Given the description of an element on the screen output the (x, y) to click on. 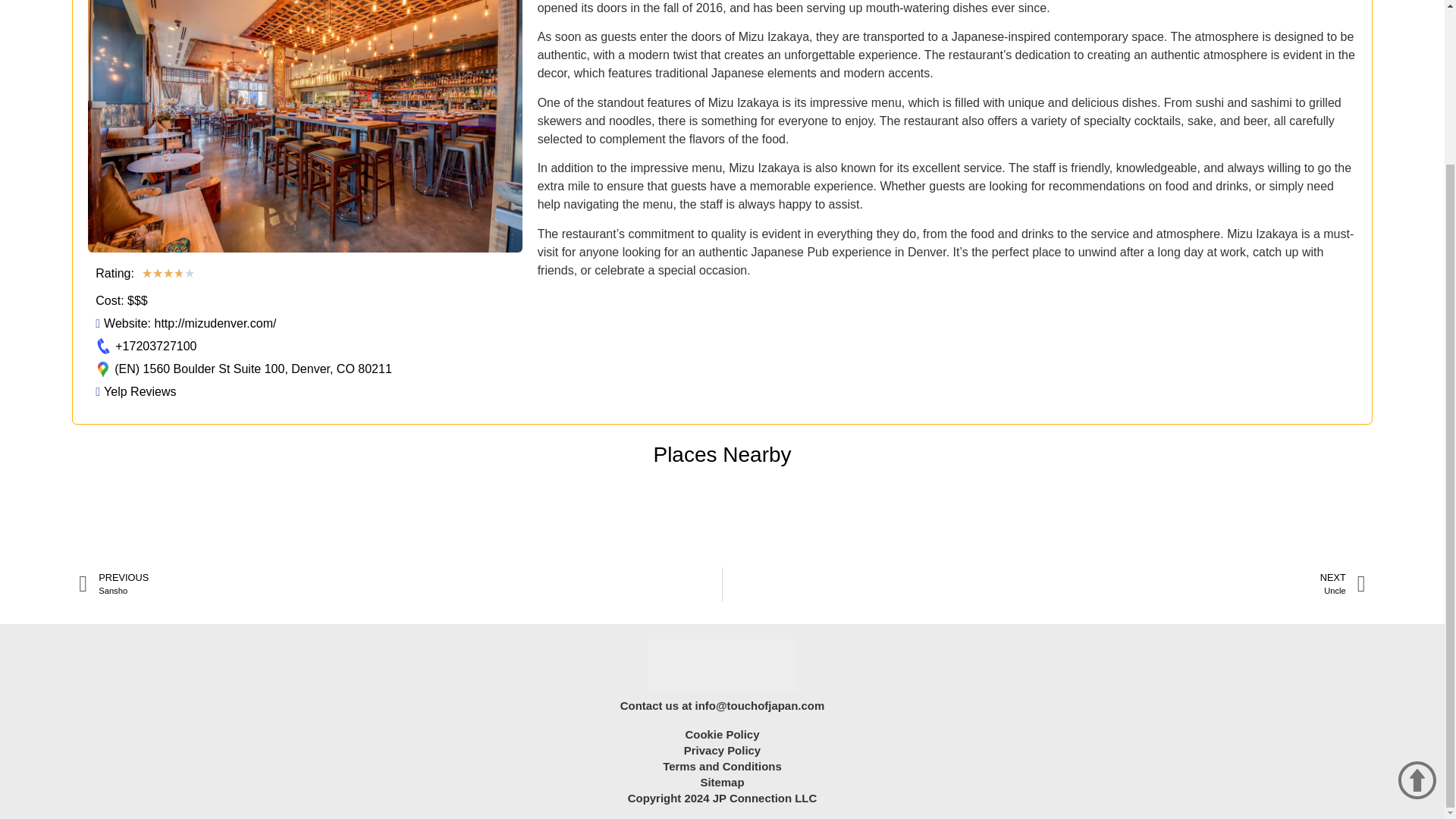
Terms and Conditions (1043, 584)
Cookie Policy (721, 766)
Yelp Reviews (722, 734)
Mizu Izakaya 1 (136, 392)
Privacy Policy (400, 584)
